Given the description of an element on the screen output the (x, y) to click on. 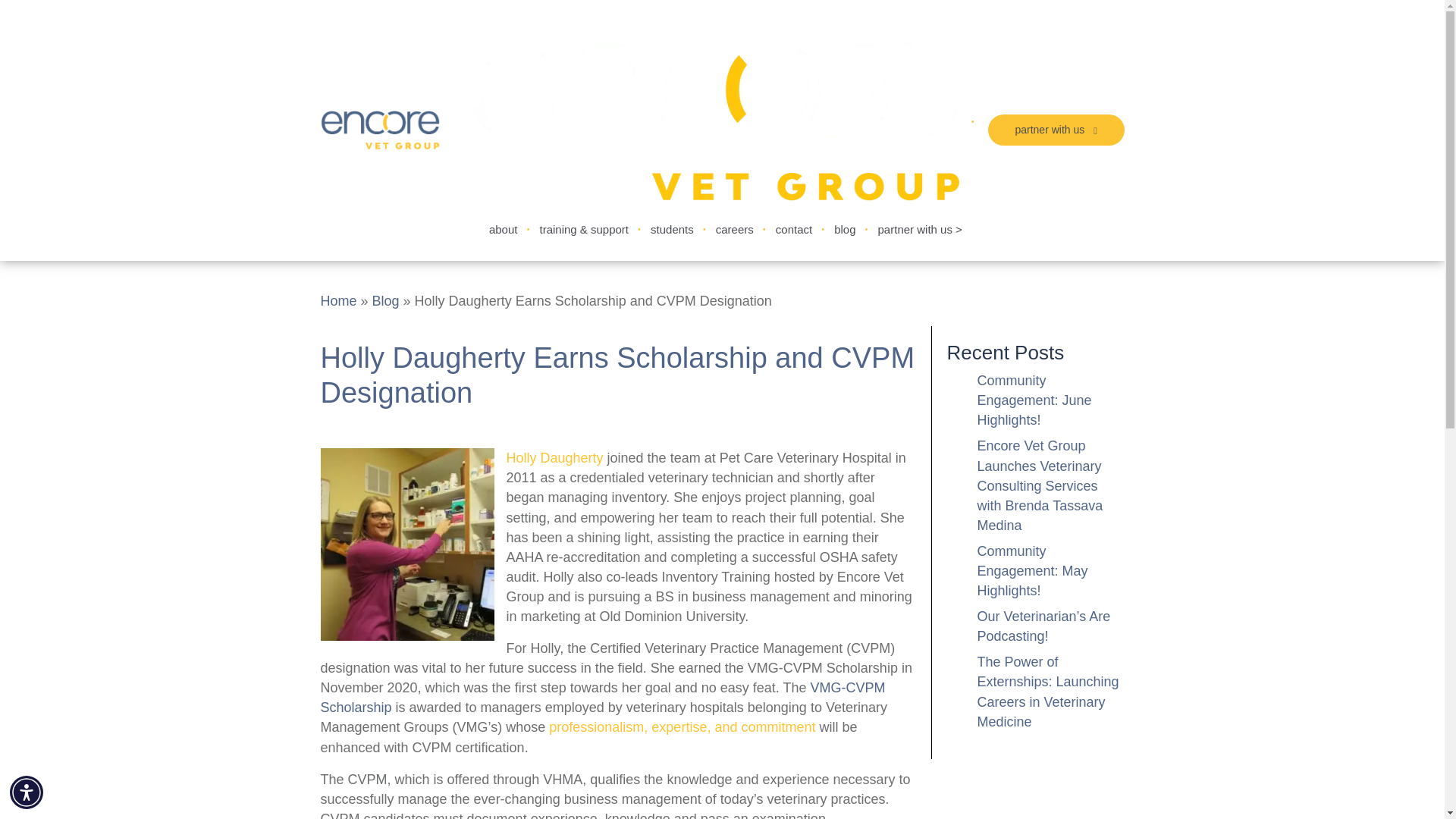
Community Engagement: June Highlights! (1033, 400)
partner with us (1056, 129)
Accessibility Menu (26, 792)
Community Engagement: May Highlights! (1031, 570)
VMG-CVPM Scholarship (602, 697)
Blog (385, 301)
students (671, 229)
careers (734, 229)
Encore-logo-blue (379, 129)
blog (844, 229)
Home (338, 301)
about (502, 229)
contact (793, 229)
